Given the description of an element on the screen output the (x, y) to click on. 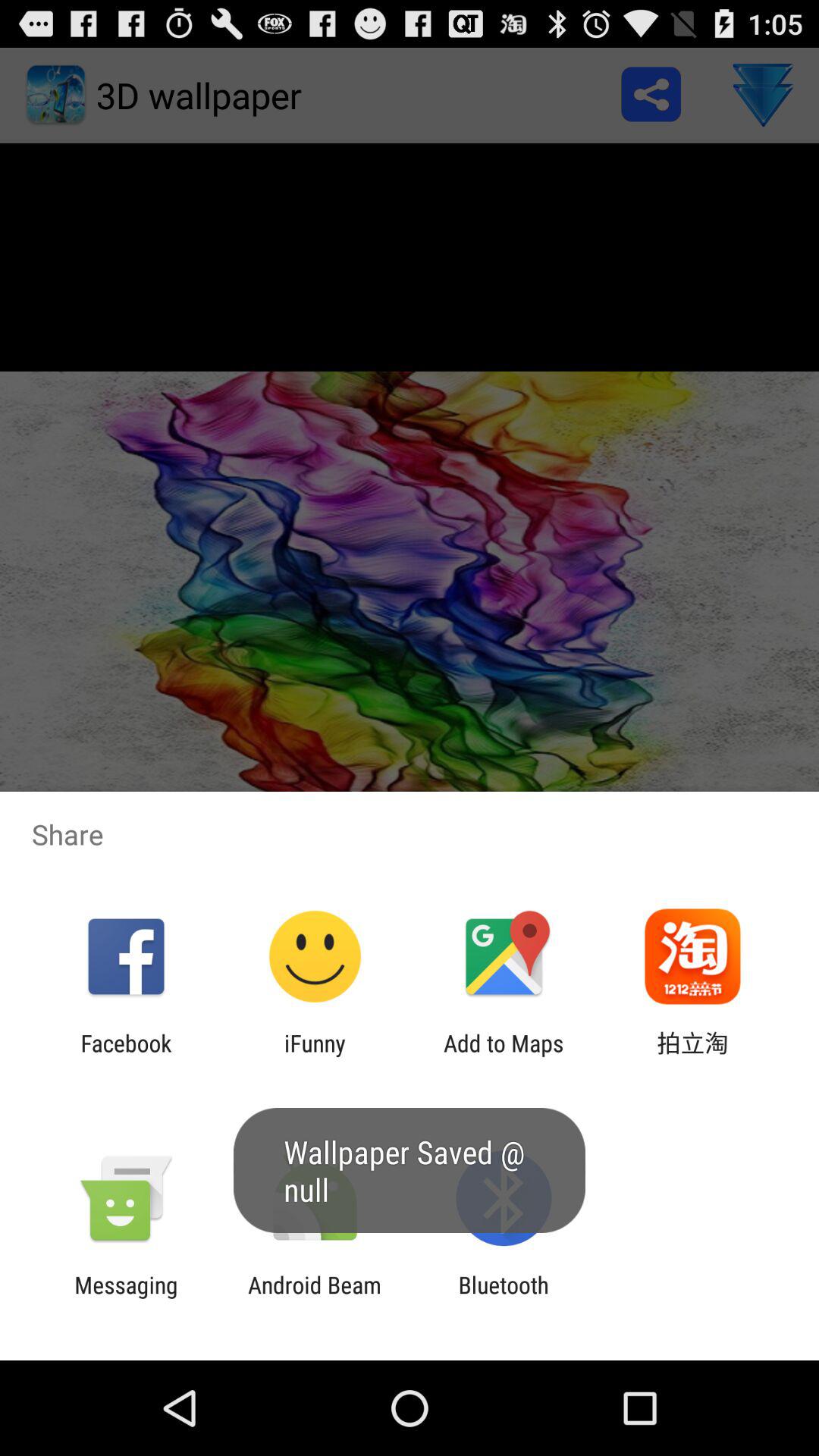
click the app to the right of the ifunny item (503, 1056)
